Given the description of an element on the screen output the (x, y) to click on. 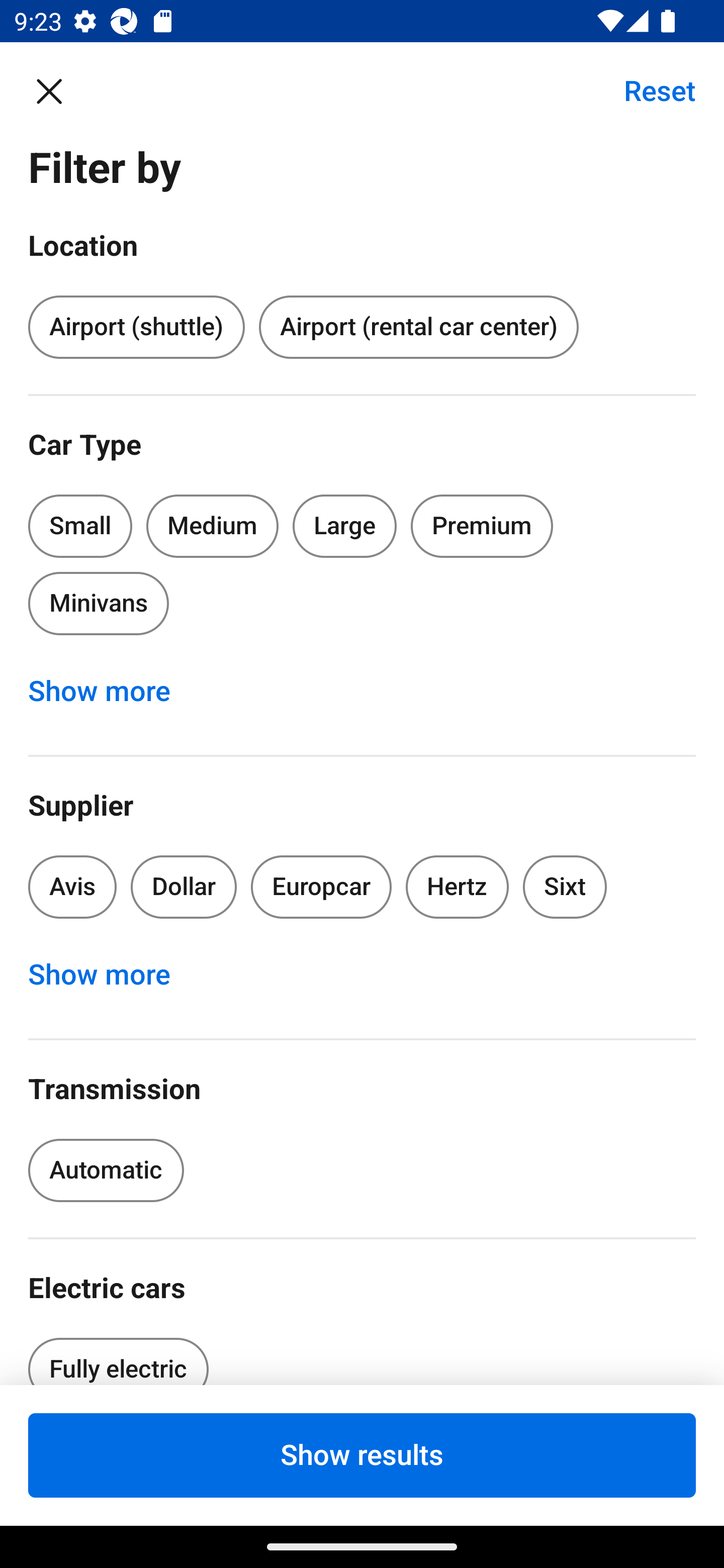
Close (59, 90)
Reset (649, 90)
Airport (shuttle) (136, 327)
Airport (rental car center) (418, 327)
Small (80, 525)
Medium (212, 525)
Large (344, 525)
Premium (482, 525)
Minivans (98, 603)
Show more (109, 691)
Avis (72, 887)
Dollar (183, 887)
Europcar (321, 887)
Hertz (457, 887)
Sixt (564, 887)
Show more (109, 974)
Automatic (105, 1170)
Fully electric (118, 1355)
Show results (361, 1454)
